Given the description of an element on the screen output the (x, y) to click on. 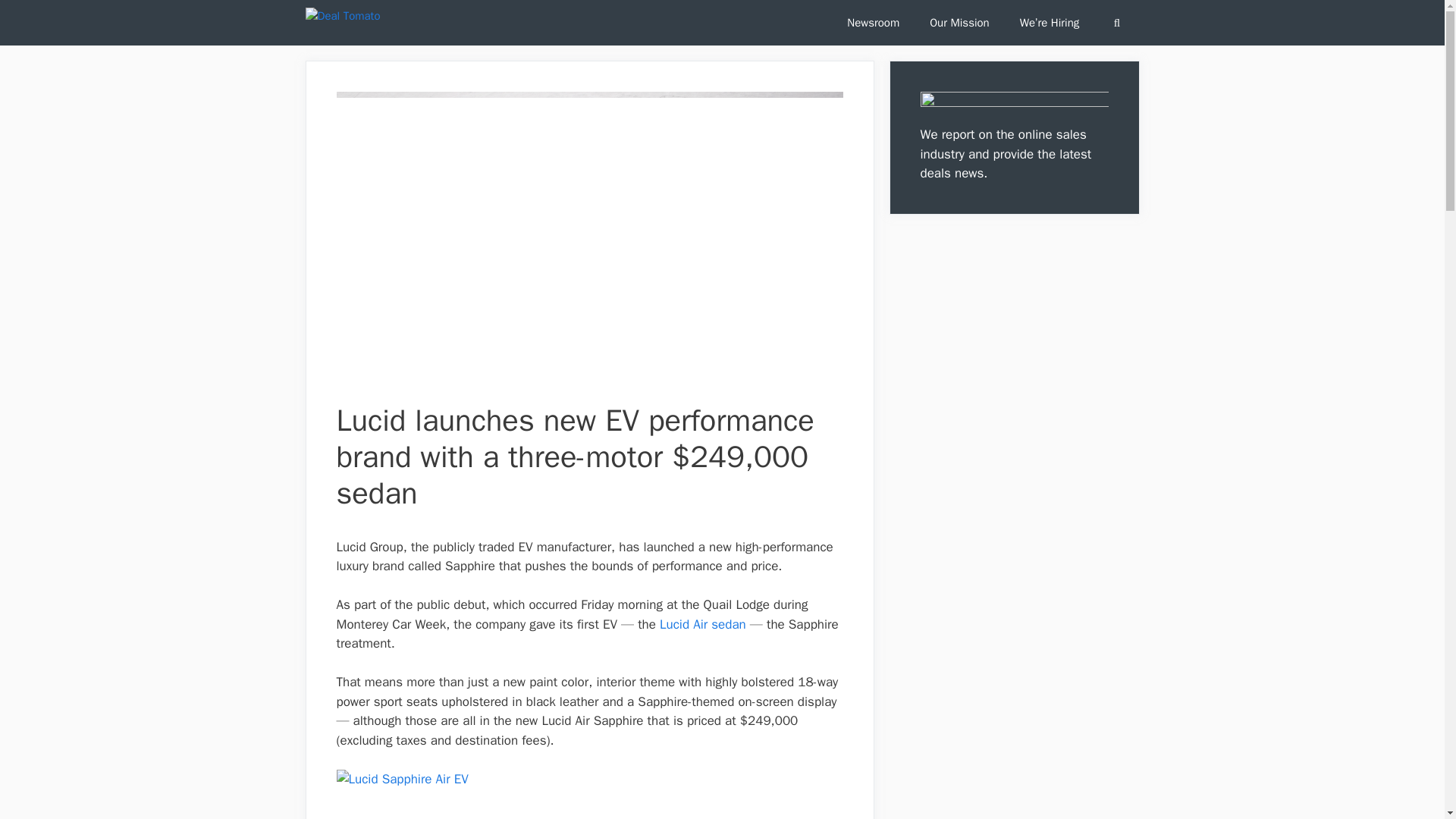
Our Mission (959, 22)
Deal Tomato (342, 22)
Lucid Air sedan (702, 624)
Newsroom (872, 22)
